Given the description of an element on the screen output the (x, y) to click on. 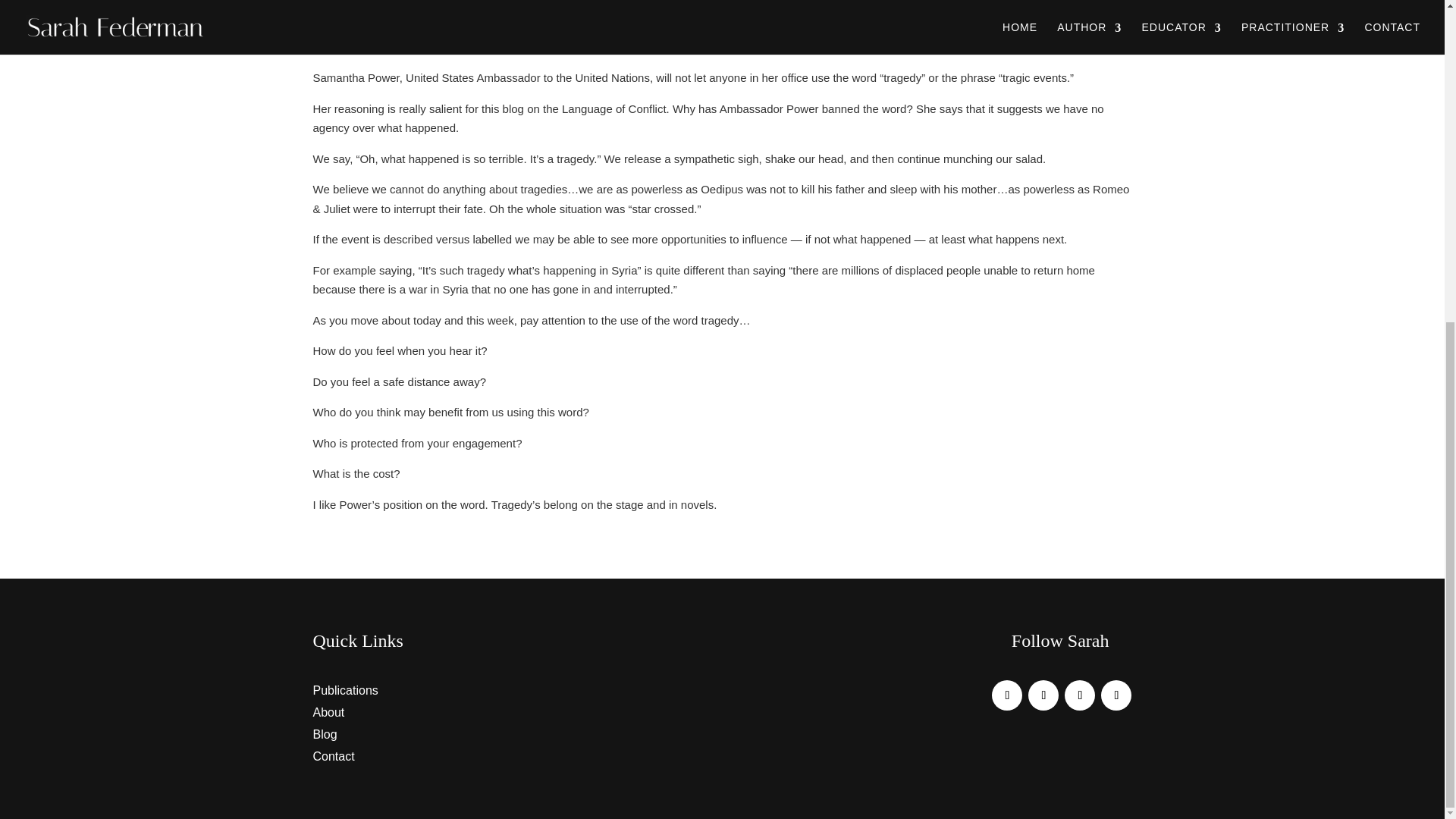
Blog (324, 734)
Follow on Instagram (1079, 695)
Follow on LinkedIn (1115, 695)
Contact (333, 756)
Asset Left (1056, 664)
Follow on X (1042, 695)
Follow on Facebook (1006, 695)
About (328, 712)
Asset Left (387, 664)
Publications (345, 689)
